Given the description of an element on the screen output the (x, y) to click on. 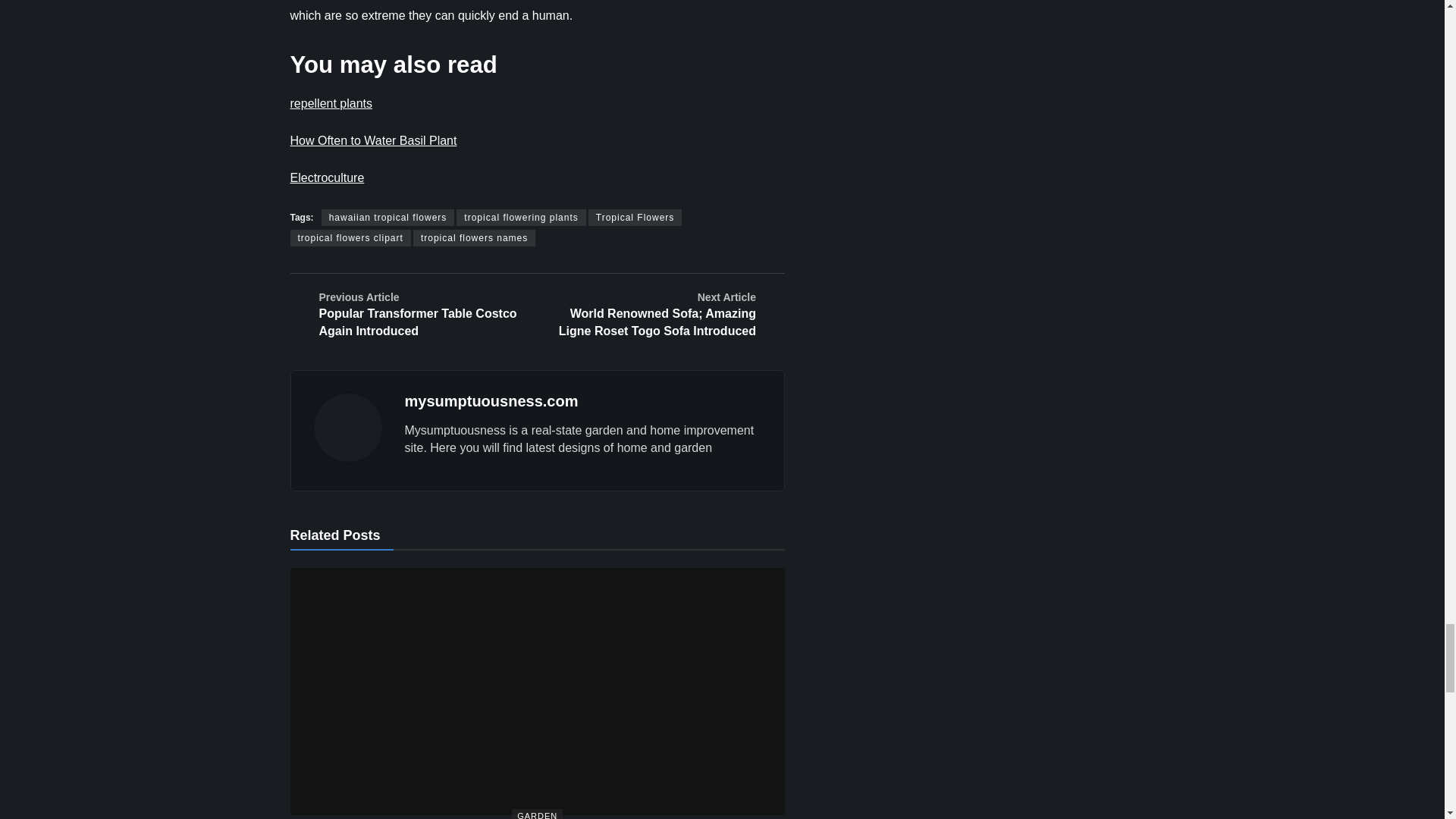
How Often to Water Basil Plant (373, 140)
repellent plants (330, 103)
Tropical Flowers (635, 217)
tropical flowers clipart (349, 238)
tropical flowering plants (521, 217)
Electroculture (326, 177)
hawaiian tropical flowers (387, 217)
